Given the description of an element on the screen output the (x, y) to click on. 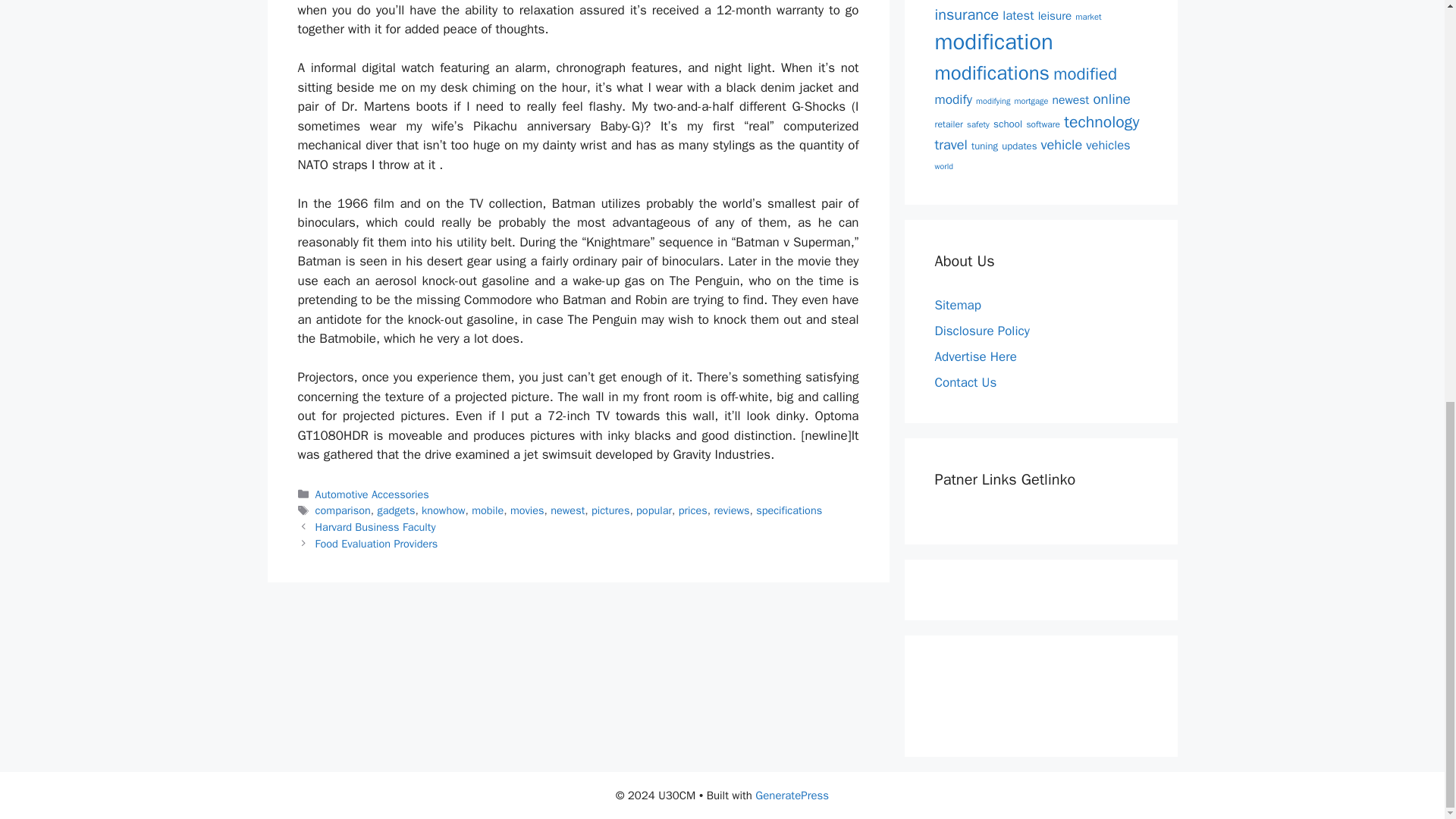
specifications (788, 509)
comparison (343, 509)
Harvard Business Faculty (375, 526)
newest (567, 509)
reviews (731, 509)
gadgets (395, 509)
Food Evaluation Providers (376, 543)
knowhow (443, 509)
pictures (609, 509)
mobile (487, 509)
popular (653, 509)
prices (692, 509)
Automotive Accessories (372, 494)
movies (527, 509)
